Given the description of an element on the screen output the (x, y) to click on. 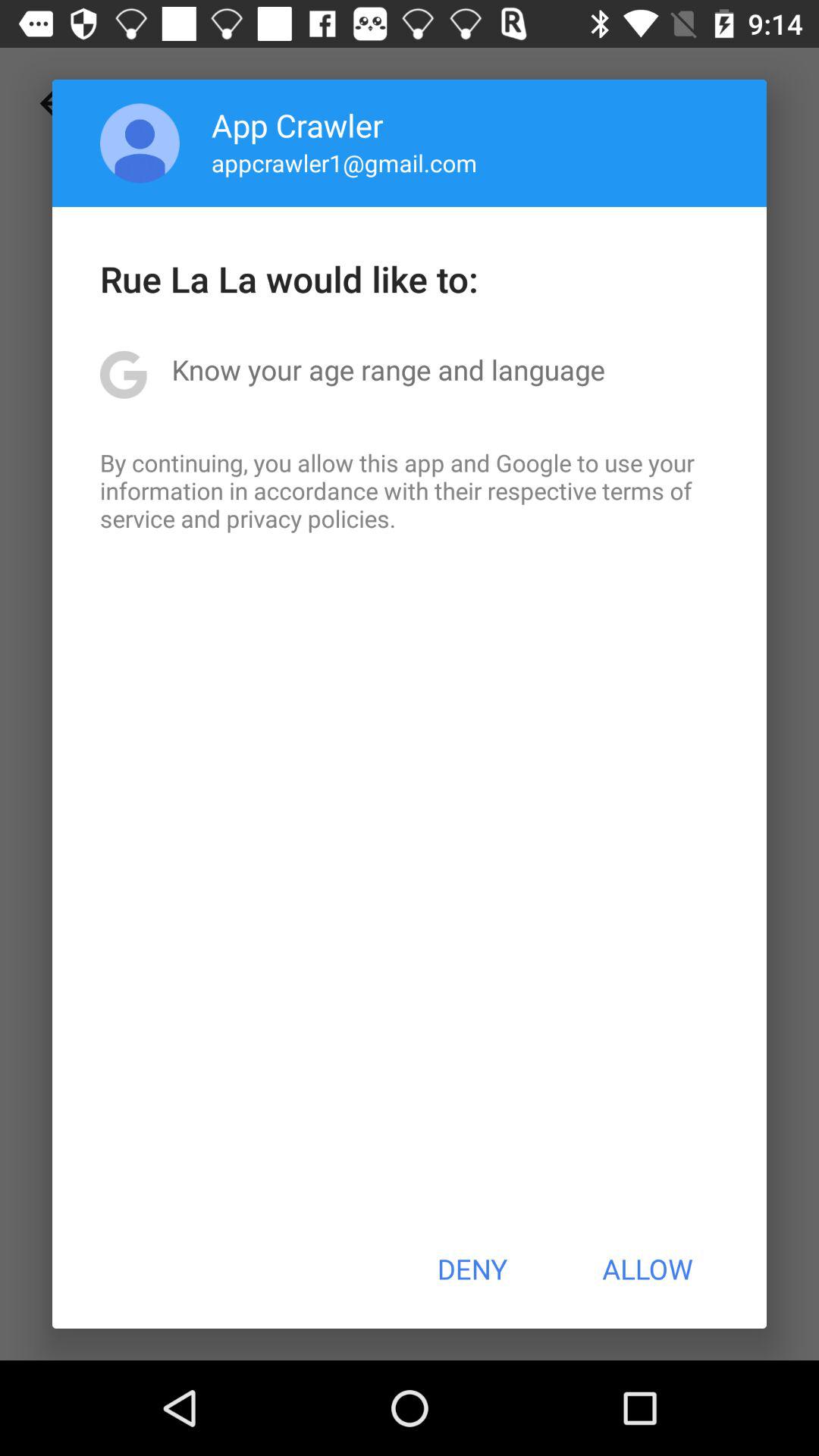
open the icon to the left of app crawler app (139, 143)
